Given the description of an element on the screen output the (x, y) to click on. 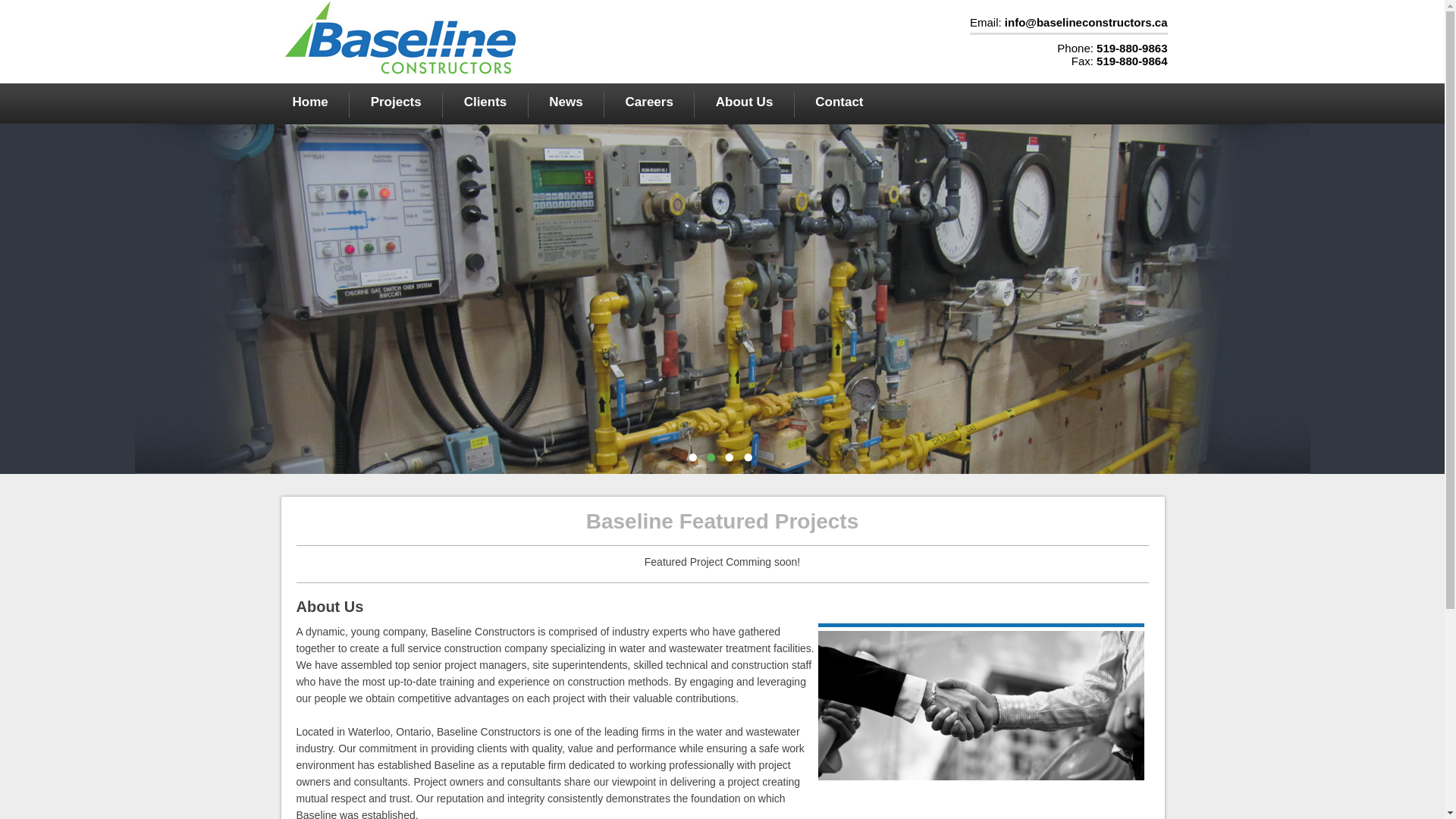
Contact Element type: text (839, 101)
Clients Element type: text (485, 101)
Careers Element type: text (649, 101)
Projects Element type: text (395, 101)
info@baselineconstructors.ca Element type: text (1085, 21)
News Element type: text (565, 101)
Home Element type: text (310, 101)
About Us Element type: text (744, 101)
